Given the description of an element on the screen output the (x, y) to click on. 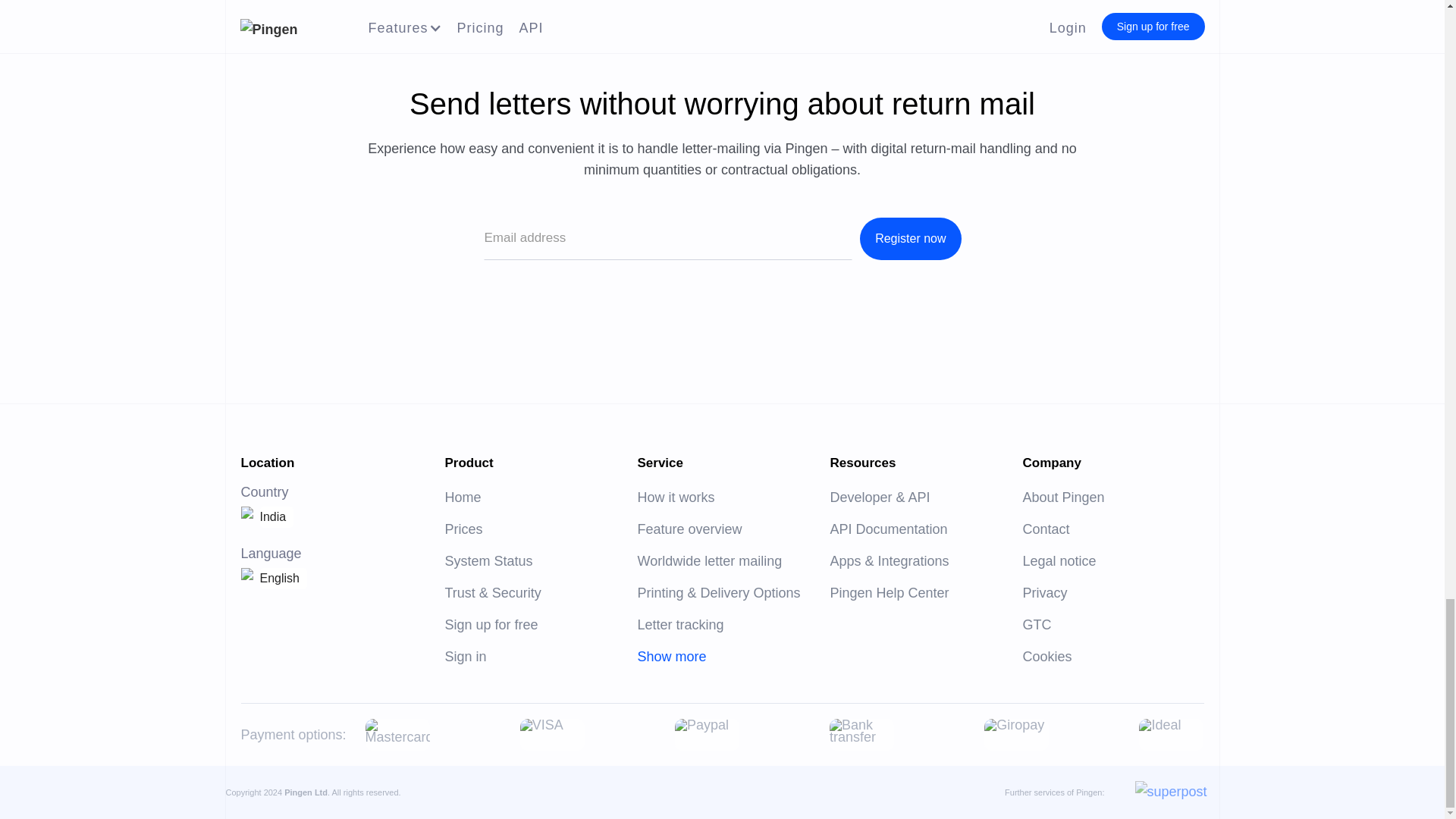
Prices (462, 529)
Register now (910, 238)
Register now (910, 238)
Home (462, 497)
System Status (488, 561)
